Given the description of an element on the screen output the (x, y) to click on. 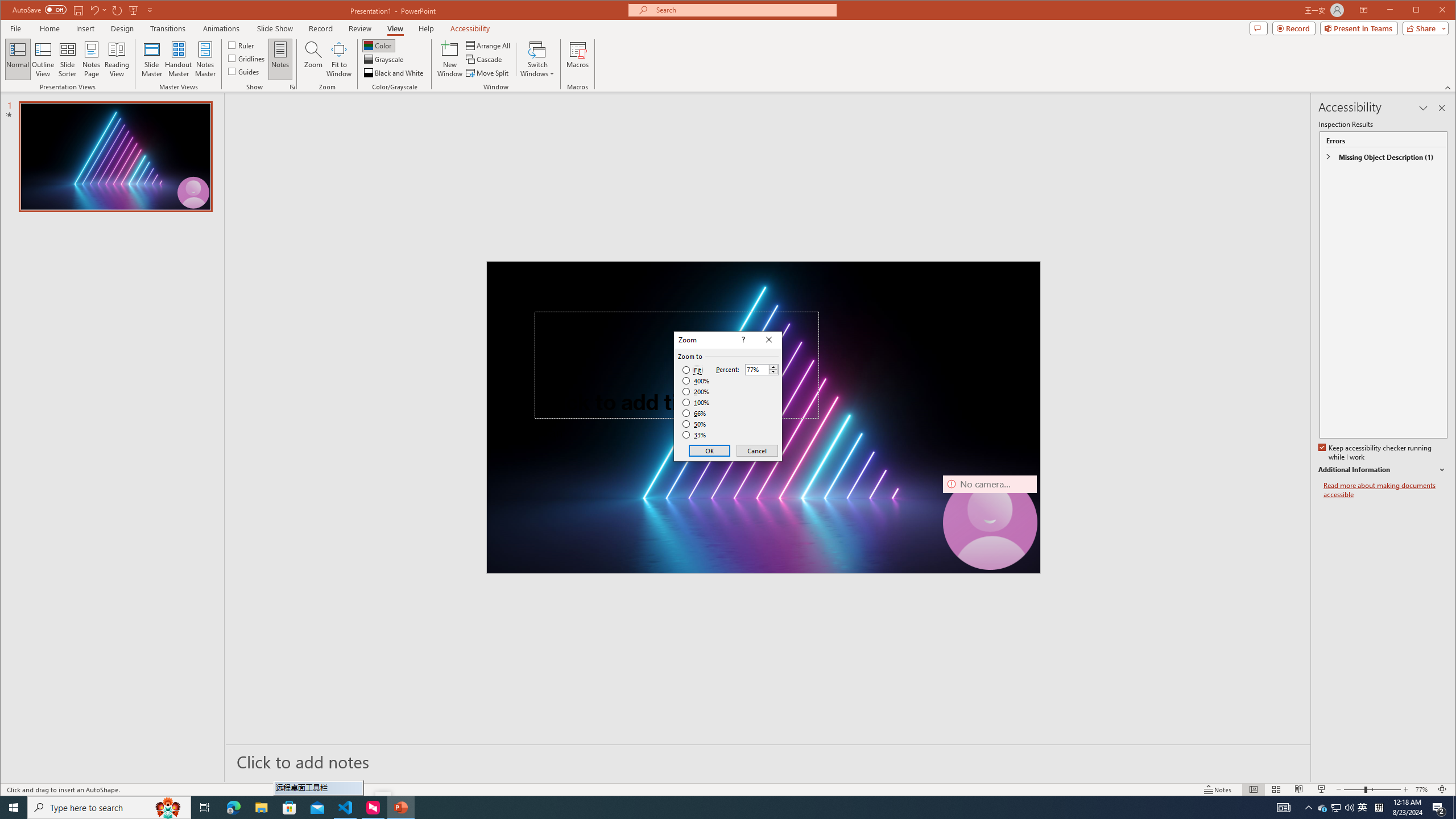
200% (696, 391)
Slide Master (151, 59)
Grayscale (384, 59)
50% (694, 424)
Handout Master (178, 59)
Zoom 77% (1422, 789)
